Given the description of an element on the screen output the (x, y) to click on. 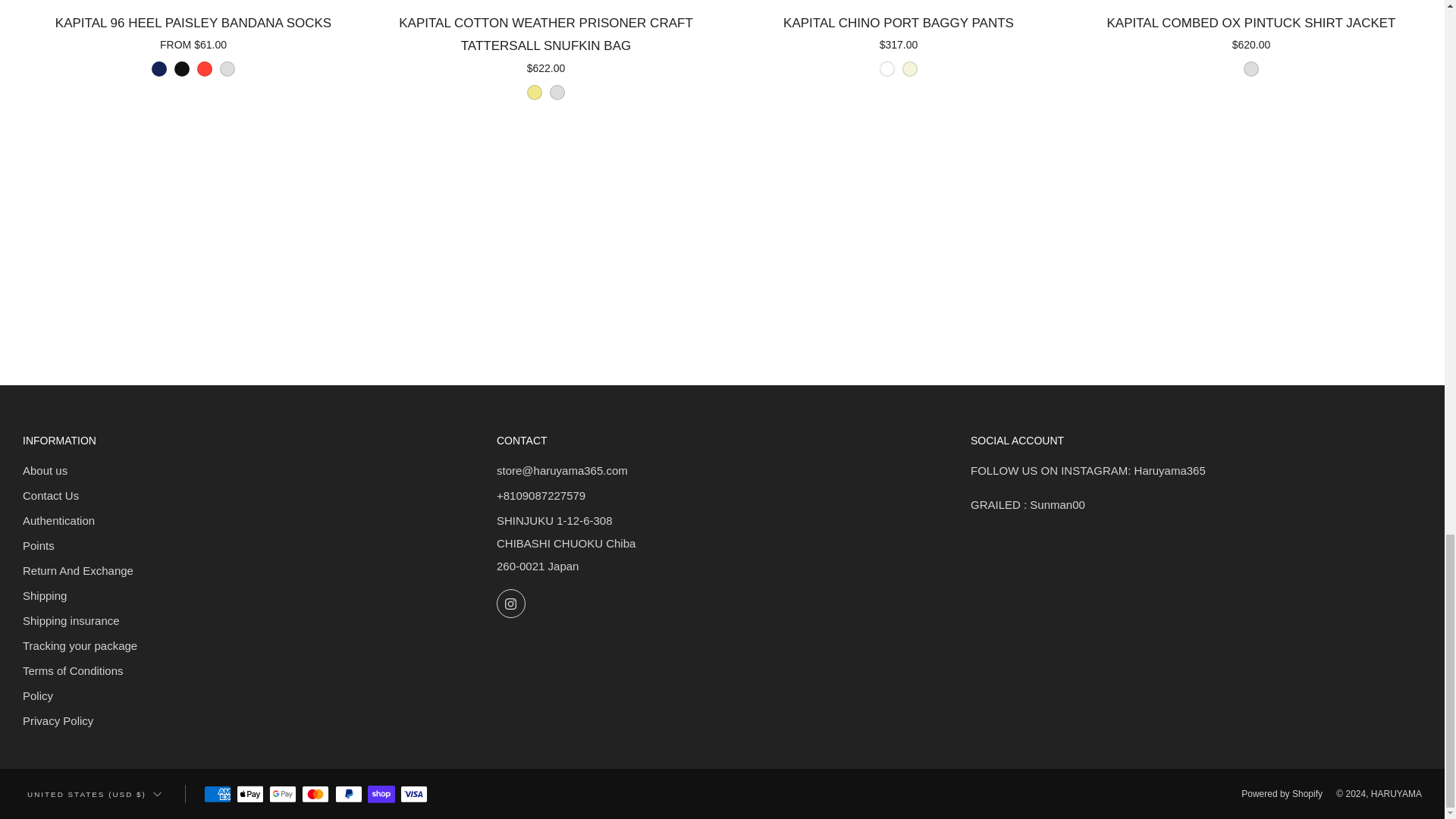
Kapital Chino Port Baggy Pants (898, 45)
Kapital Cotton Weather Prisoner Craft Tattersall Snufkin Bag (545, 57)
Kapital Combed OX Pintuck Shirt Jacket (1251, 45)
KAPITAL  96 Heel Paisley Bandana Socks (193, 45)
